Given the description of an element on the screen output the (x, y) to click on. 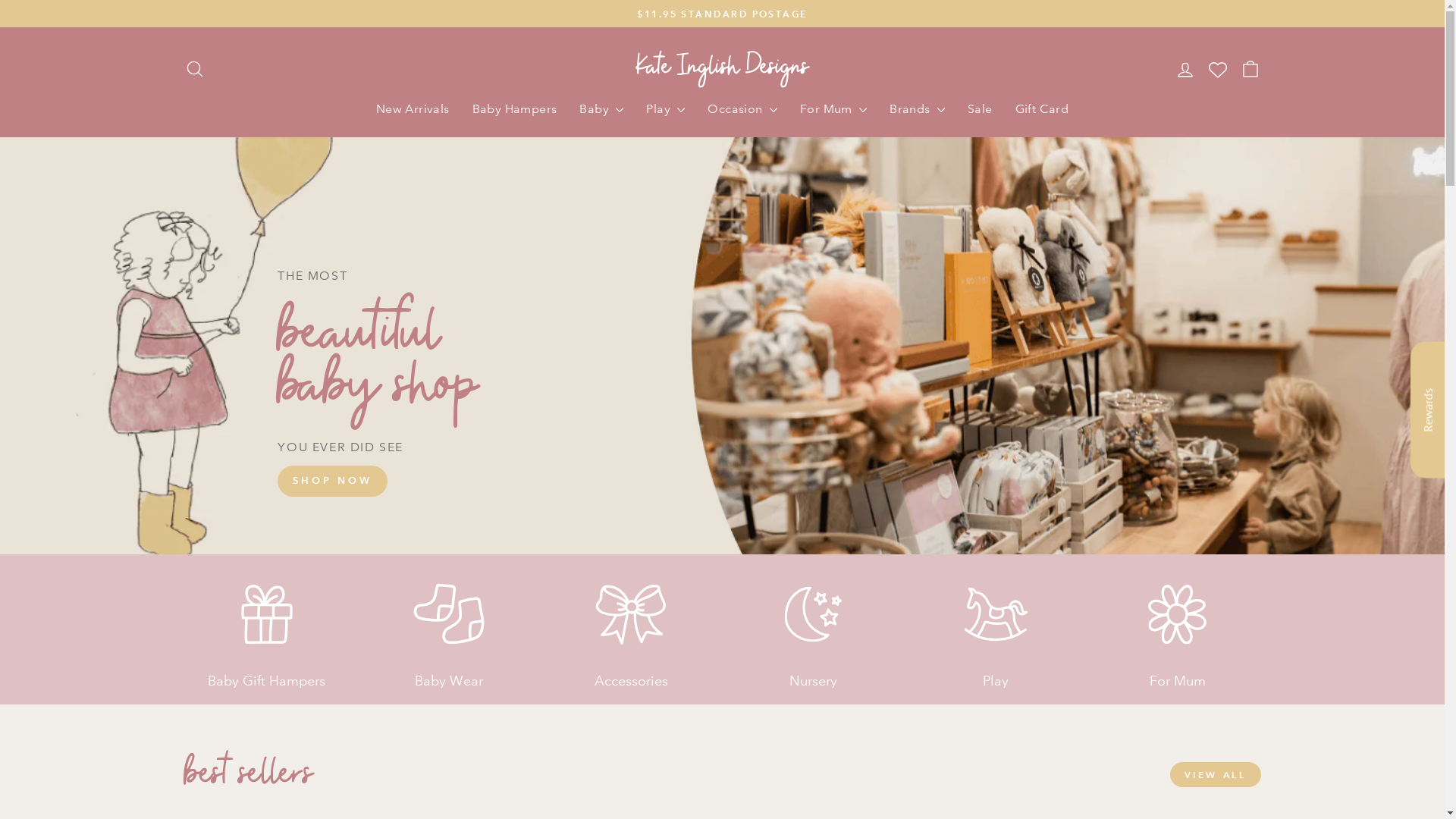
New Arrivals Element type: text (412, 108)
Baby Gift Hampers Element type: text (265, 620)
icon-bag-minimal
Cart Element type: text (1249, 69)
Sale Element type: text (980, 108)
Accessories Element type: text (630, 620)
VIEW ALL Element type: text (1214, 774)
SHOP NOW Element type: text (331, 480)
Gift Card Element type: text (1042, 108)
account
Log in Element type: text (1184, 69)
icon-search
Search Element type: text (193, 69)
For Mum Element type: text (1177, 620)
Play Element type: text (995, 620)
Baby Wear Element type: text (448, 620)
Baby Hampers Element type: text (514, 108)
Nursery Element type: text (812, 620)
